Given the description of an element on the screen output the (x, y) to click on. 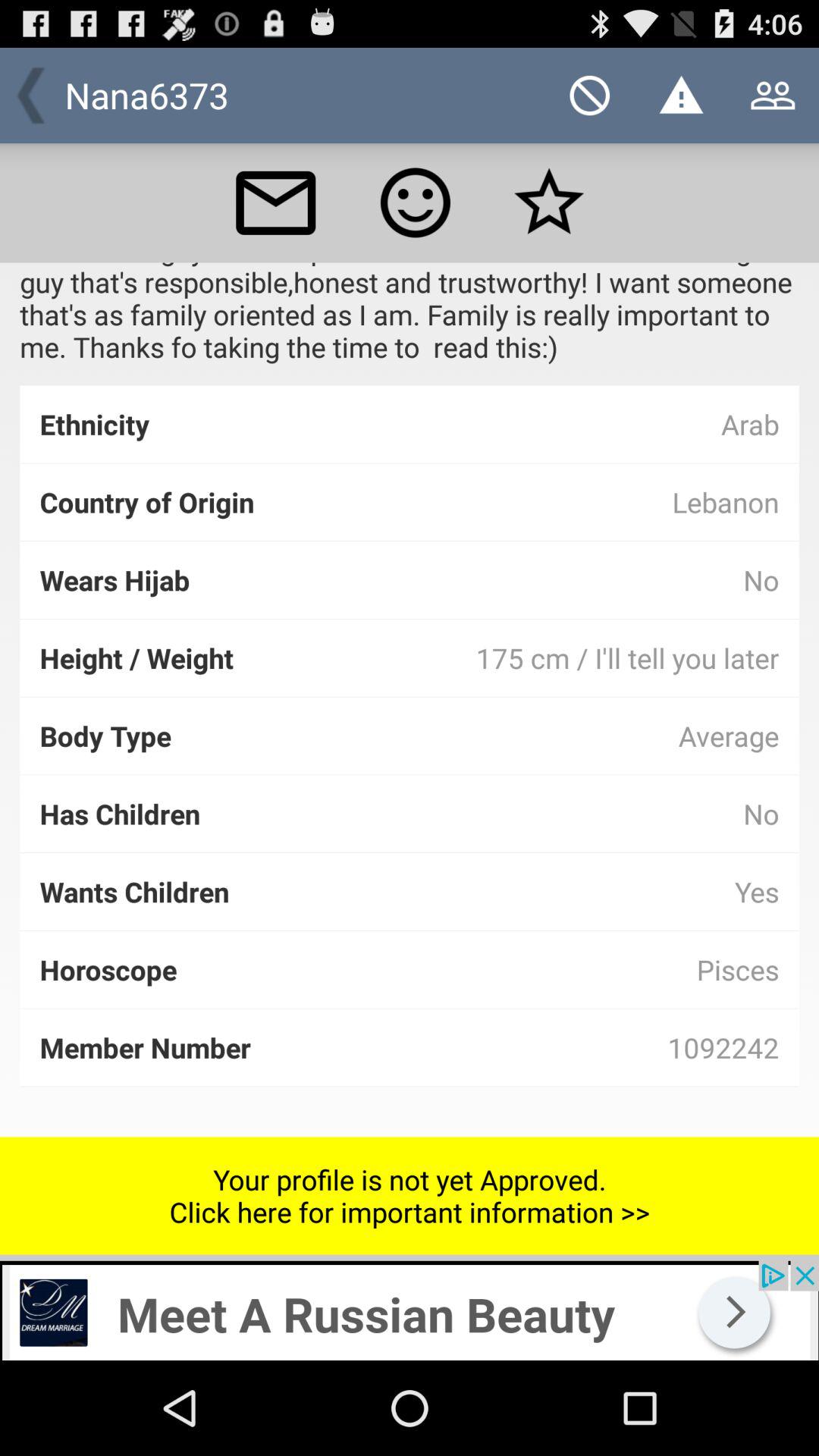
mark as favorite (548, 202)
